Given the description of an element on the screen output the (x, y) to click on. 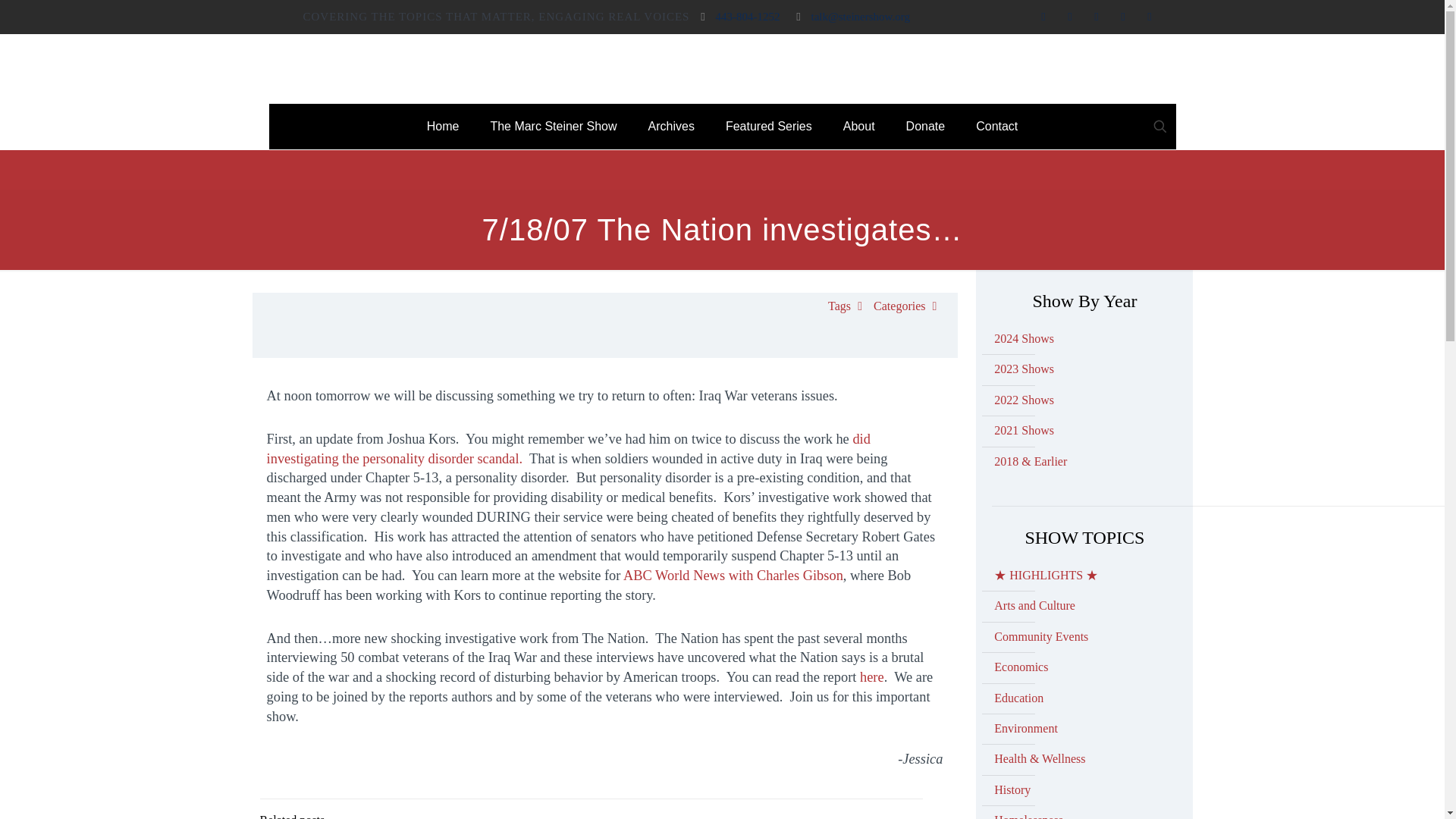
Home (444, 126)
443-804-1252 (747, 16)
Facebook (1043, 16)
The Marc Steiner Show (552, 126)
The Marc Steiner Show (721, 68)
Instagram (1123, 16)
Archives (671, 126)
YouTube (1097, 16)
